Given the description of an element on the screen output the (x, y) to click on. 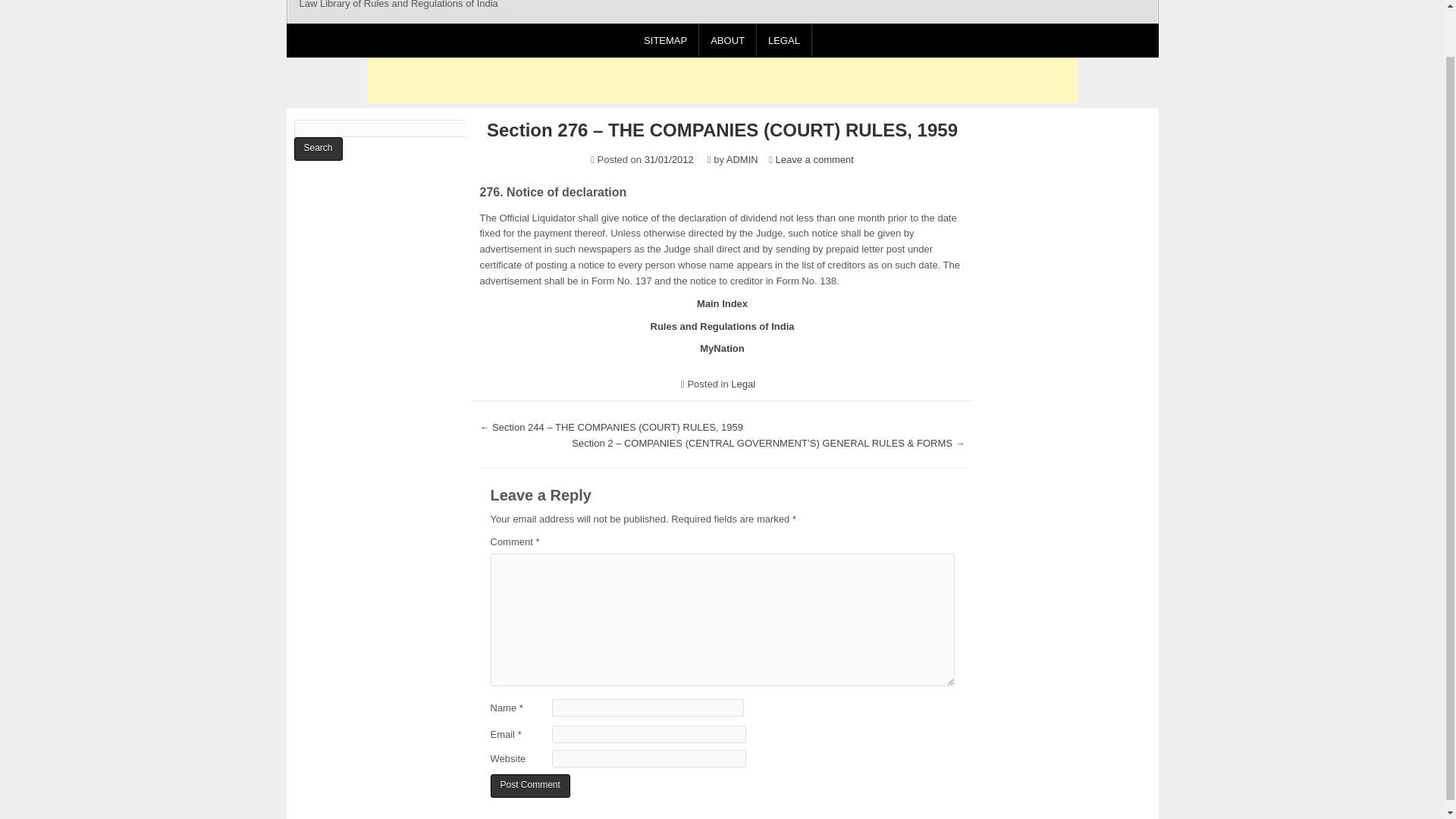
Post Comment (529, 785)
ABOUT (727, 40)
SITEMAP (664, 40)
Post Comment (529, 785)
Search (318, 148)
Main Index (722, 303)
Legal (742, 383)
Leave a comment (814, 159)
Rules and Regulations of India (722, 326)
ADMIN (742, 159)
